Given the description of an element on the screen output the (x, y) to click on. 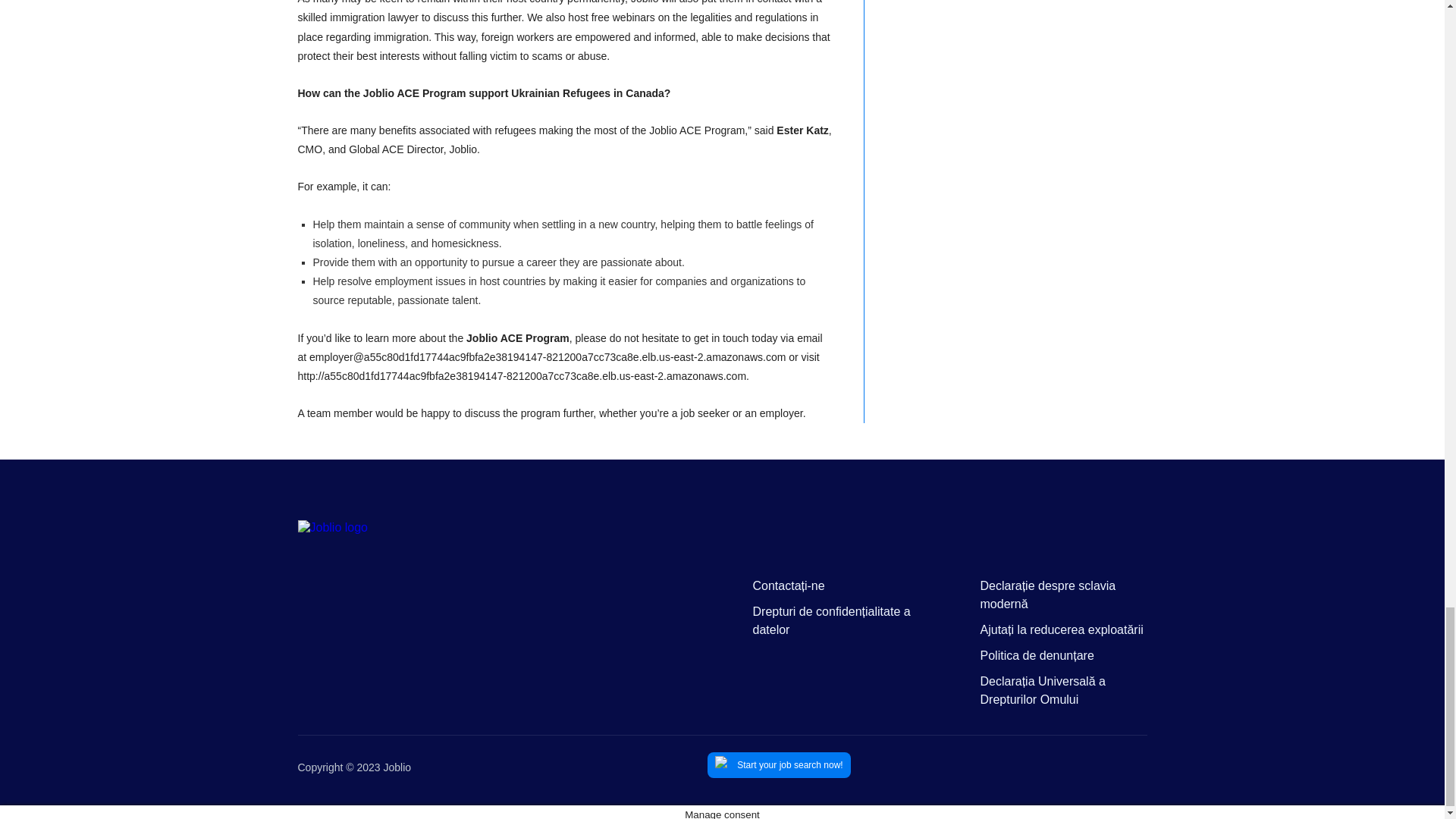
Start your job search now! (778, 765)
Joblio ACE Program (517, 337)
Ester Katz (802, 130)
